Given the description of an element on the screen output the (x, y) to click on. 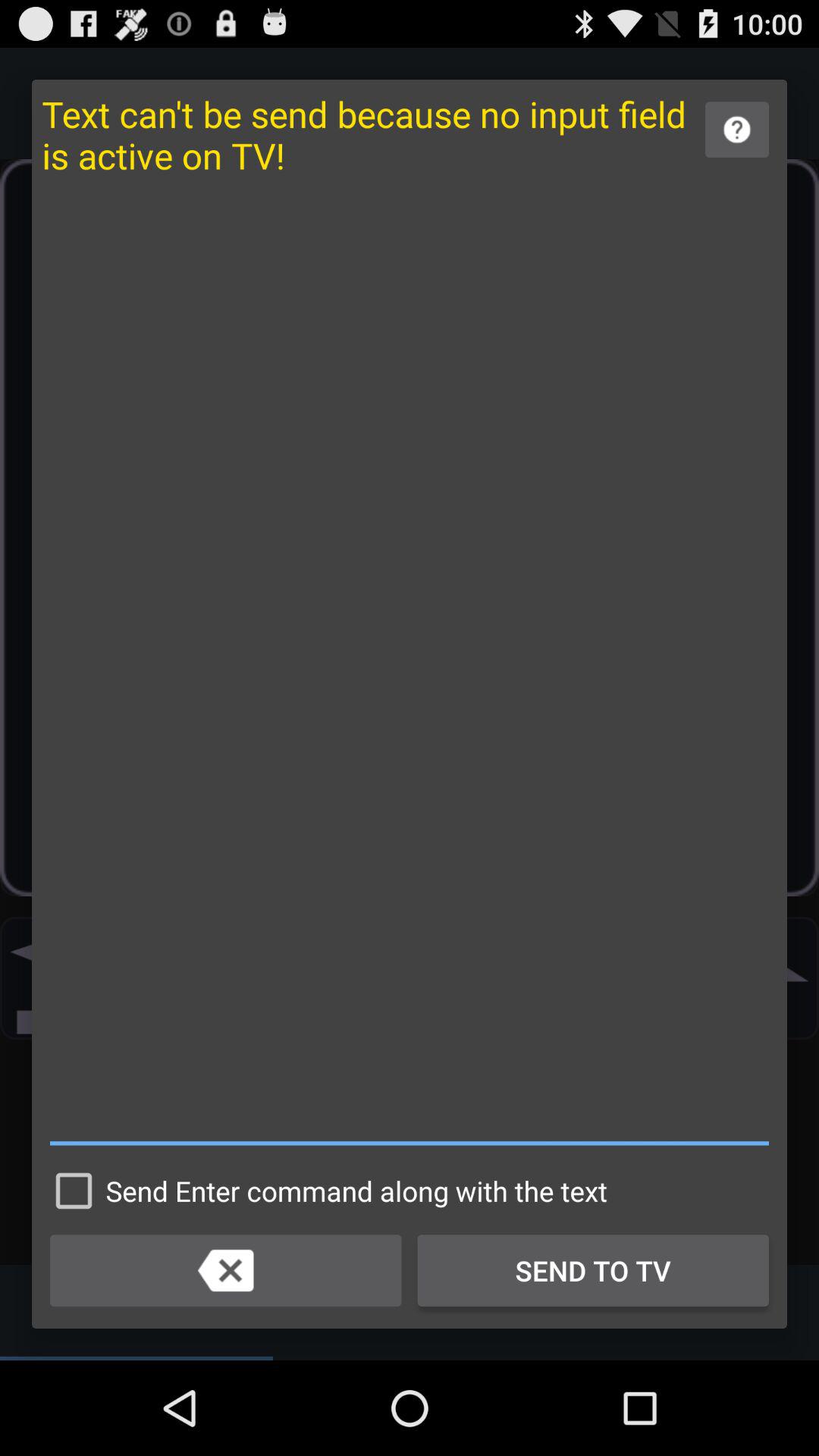
tap the item below   icon (324, 1190)
